Given the description of an element on the screen output the (x, y) to click on. 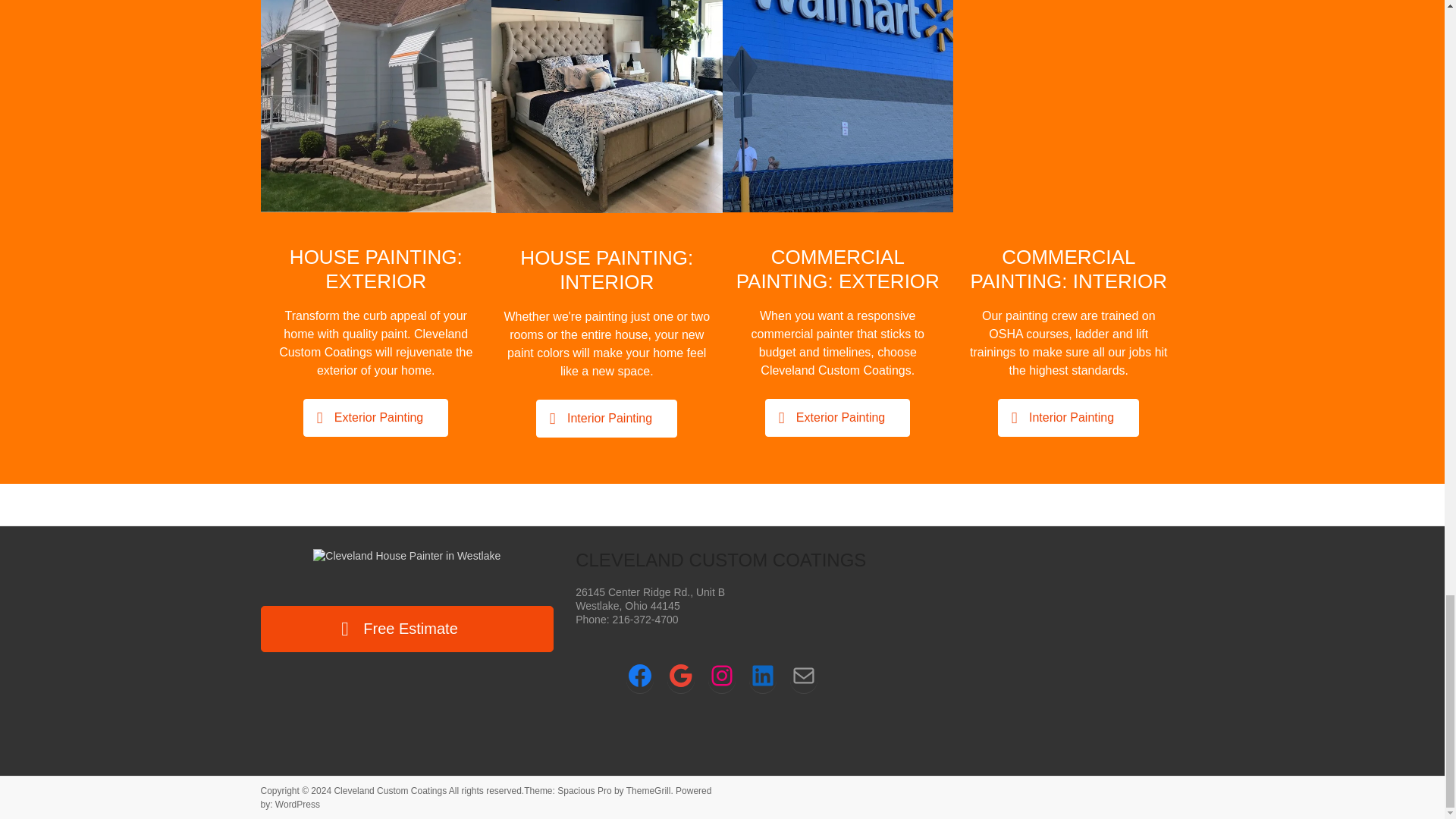
Spacious Pro (584, 790)
Interior Painting (606, 418)
exterior painting: retail (837, 106)
WordPress (297, 804)
exterior house painting Parma (376, 106)
Cleveland Custom Coatings (389, 790)
Cleveland House painter (607, 106)
Exterior Painting (375, 417)
